Given the description of an element on the screen output the (x, y) to click on. 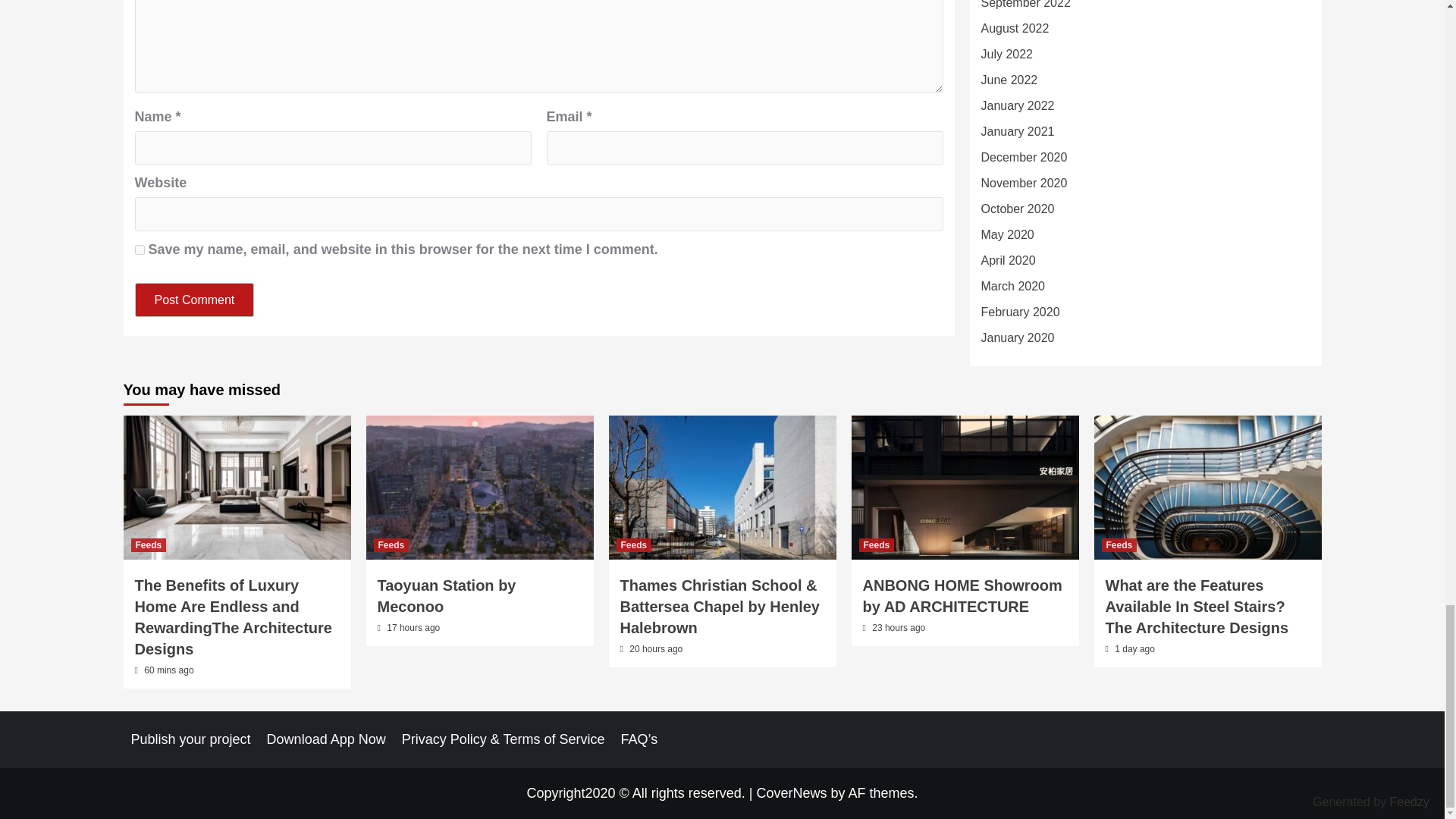
yes (139, 249)
Post Comment (194, 299)
